Given the description of an element on the screen output the (x, y) to click on. 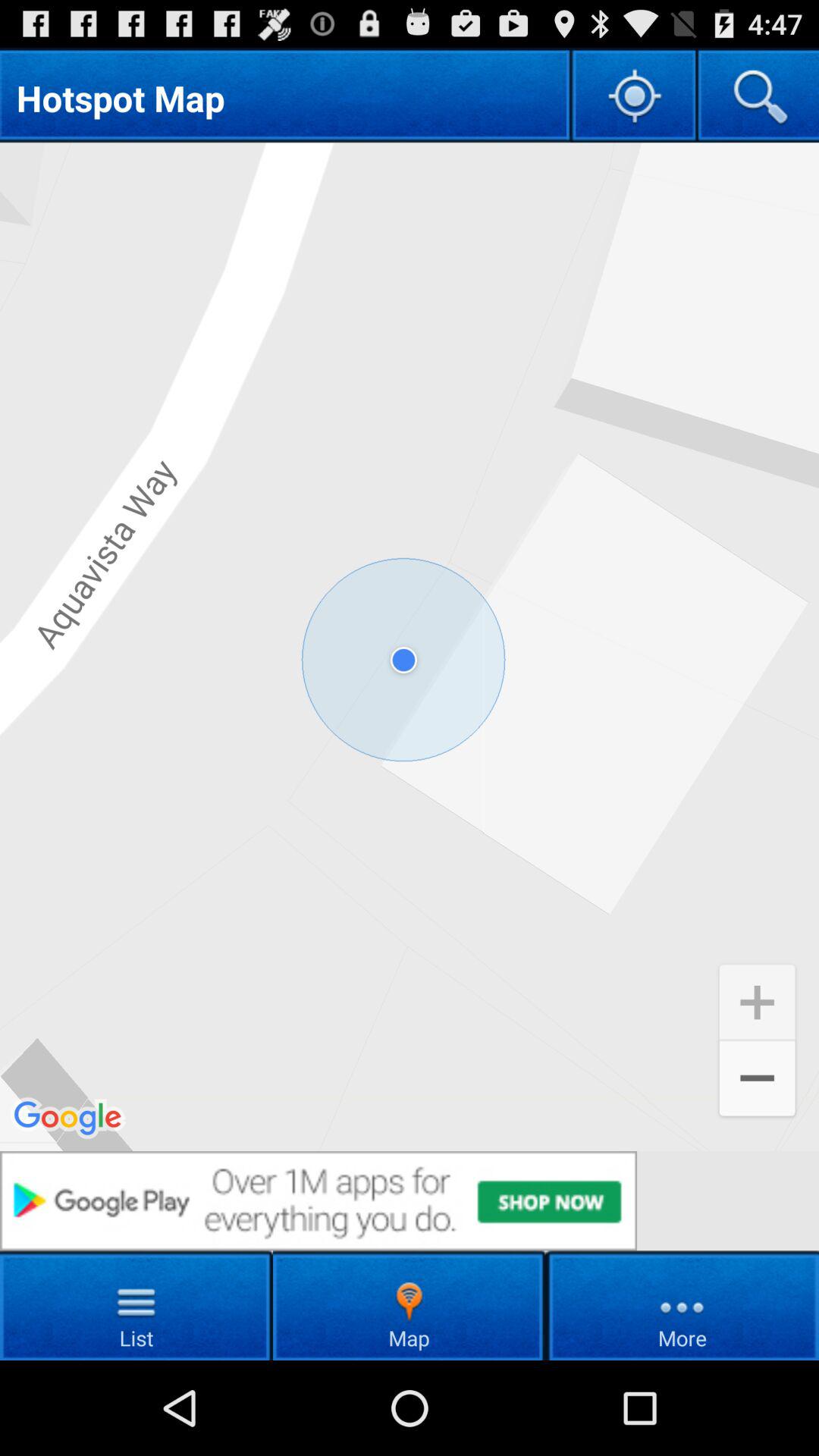
go to advertiser site (409, 1200)
